Given the description of an element on the screen output the (x, y) to click on. 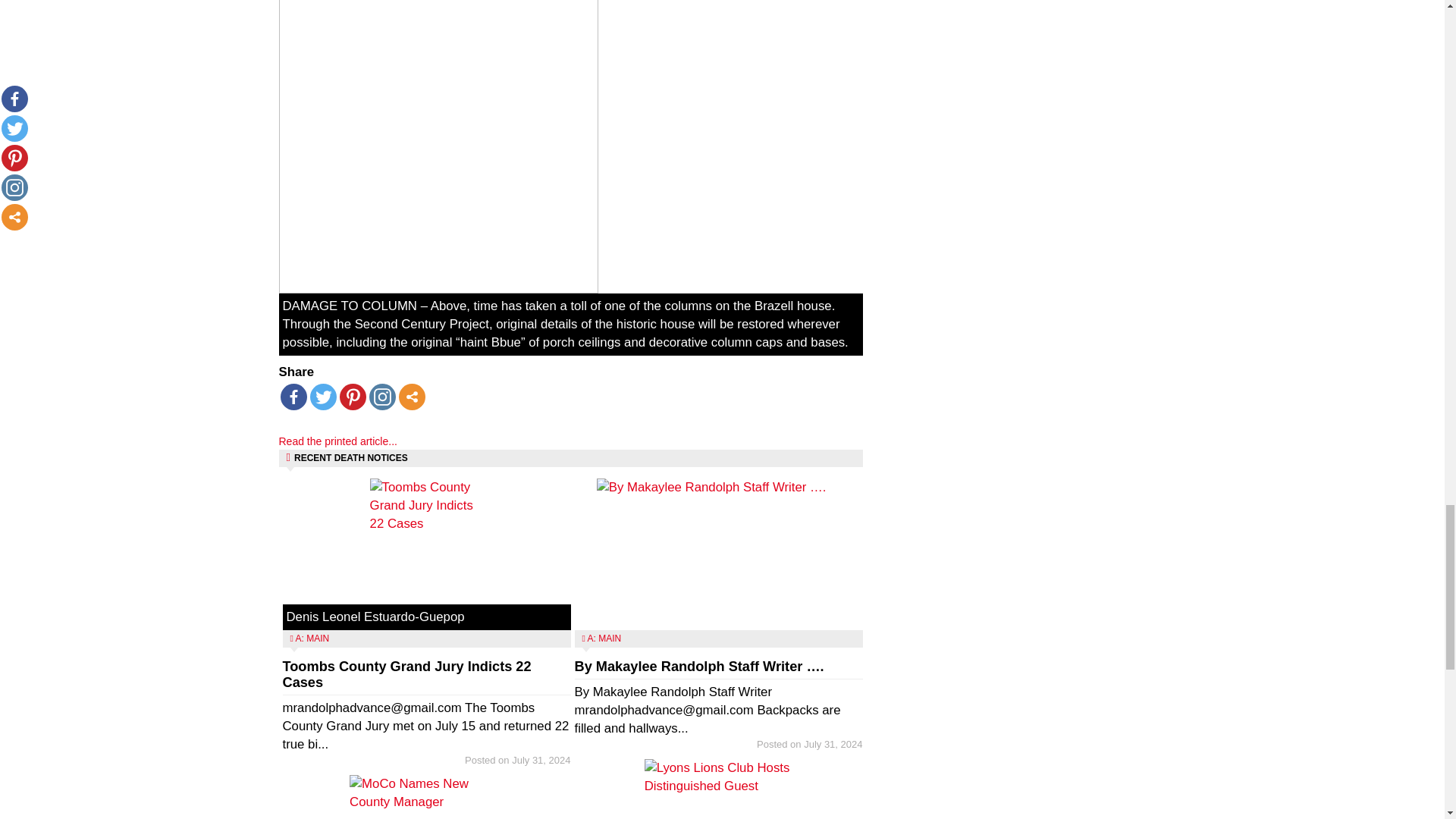
Facebook (294, 397)
Read the printed article... (338, 440)
Toombs County Grand Jury Indicts 22 Cases (406, 674)
Instagram (381, 397)
Twitter (322, 397)
More (411, 397)
A Second Century (438, 146)
A: MAIN (312, 638)
Pinterest (352, 397)
